Given the description of an element on the screen output the (x, y) to click on. 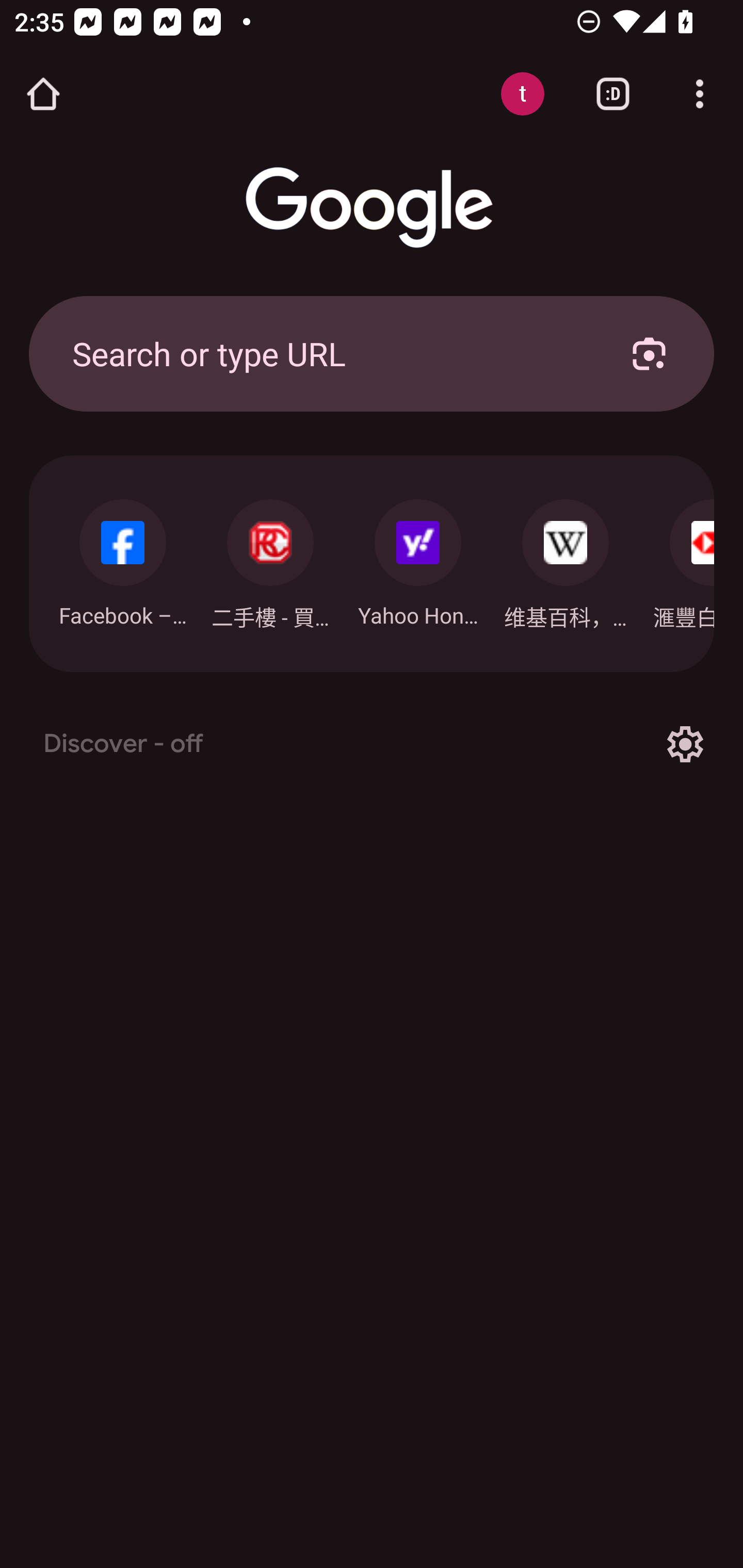
Open the home page (43, 93)
Switch or close tabs (612, 93)
Customize and control Google Chrome (699, 93)
Search or type URL (327, 353)
Search with your camera using Google Lens (648, 353)
Options for Discover (684, 743)
